Given the description of an element on the screen output the (x, y) to click on. 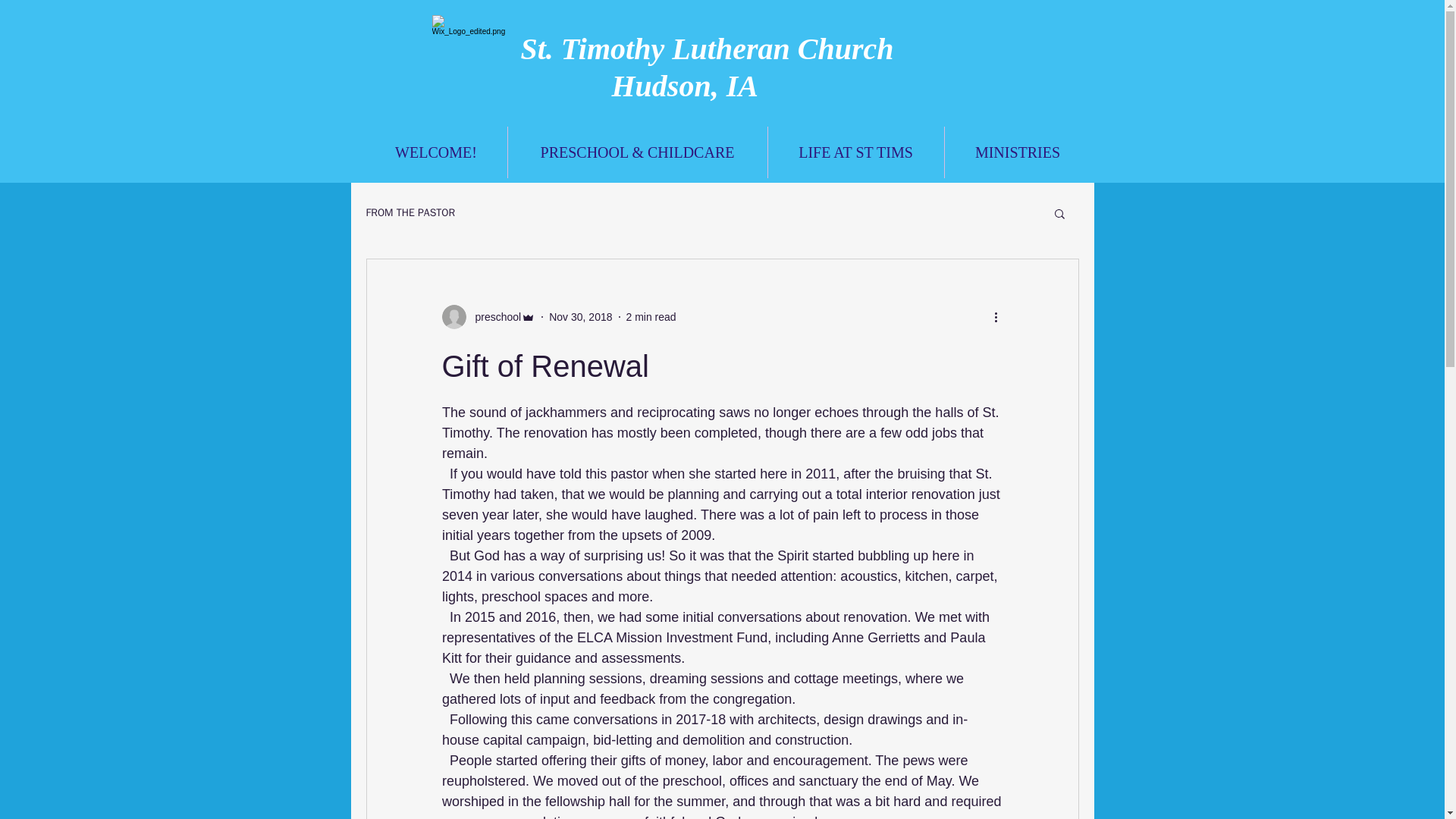
preschool (488, 316)
2 min read (651, 316)
FROM THE PASTOR (409, 213)
WELCOME! (435, 152)
preschool (493, 317)
Nov 30, 2018 (579, 316)
